Given the description of an element on the screen output the (x, y) to click on. 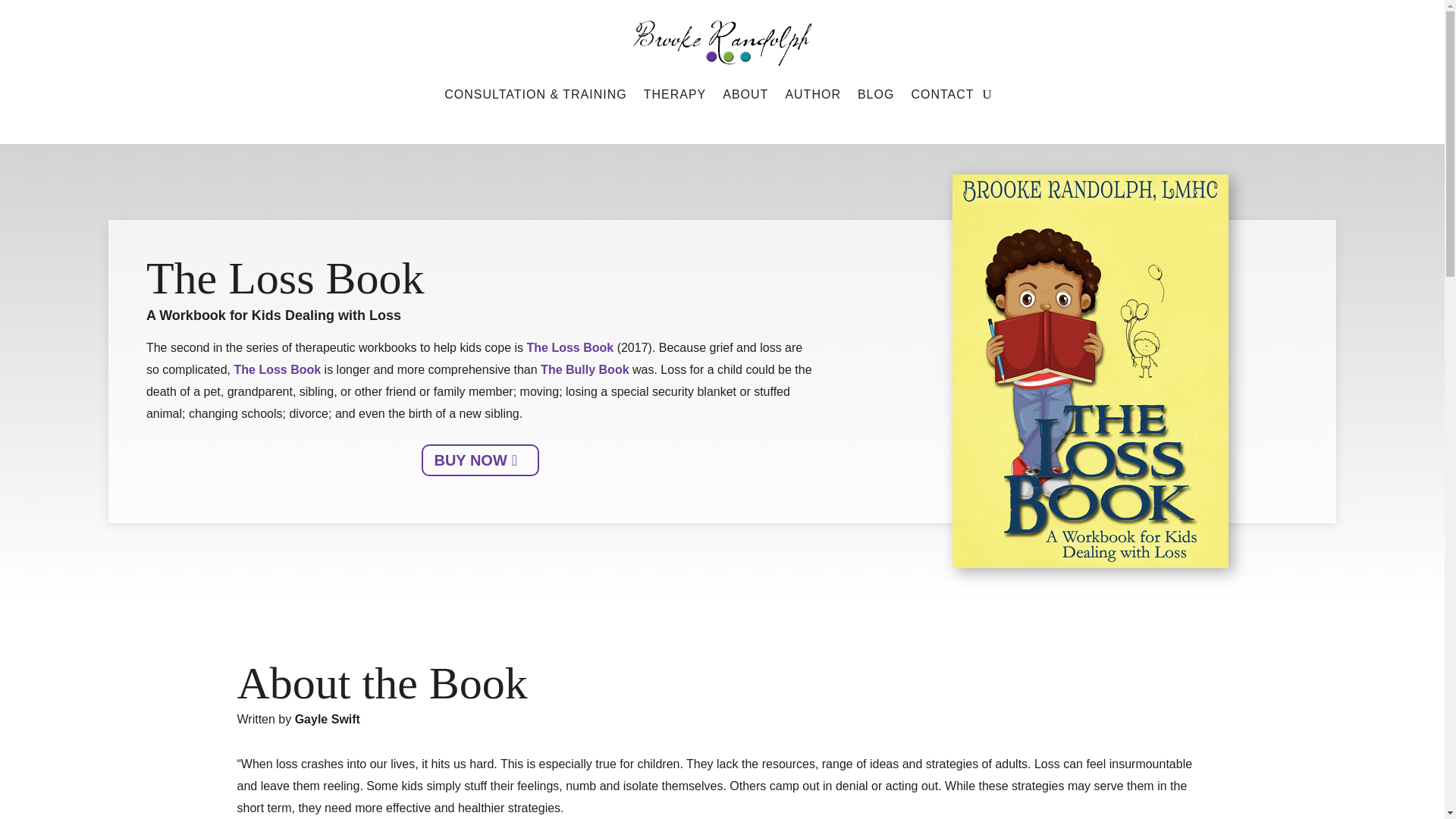
Gayle Swift (327, 718)
The Loss Book (568, 347)
AUTHOR (812, 94)
The Loss Book (276, 369)
BUY NOW (480, 459)
The Bully Book (584, 369)
CONTACT (942, 94)
THERAPY (674, 94)
